Given the description of an element on the screen output the (x, y) to click on. 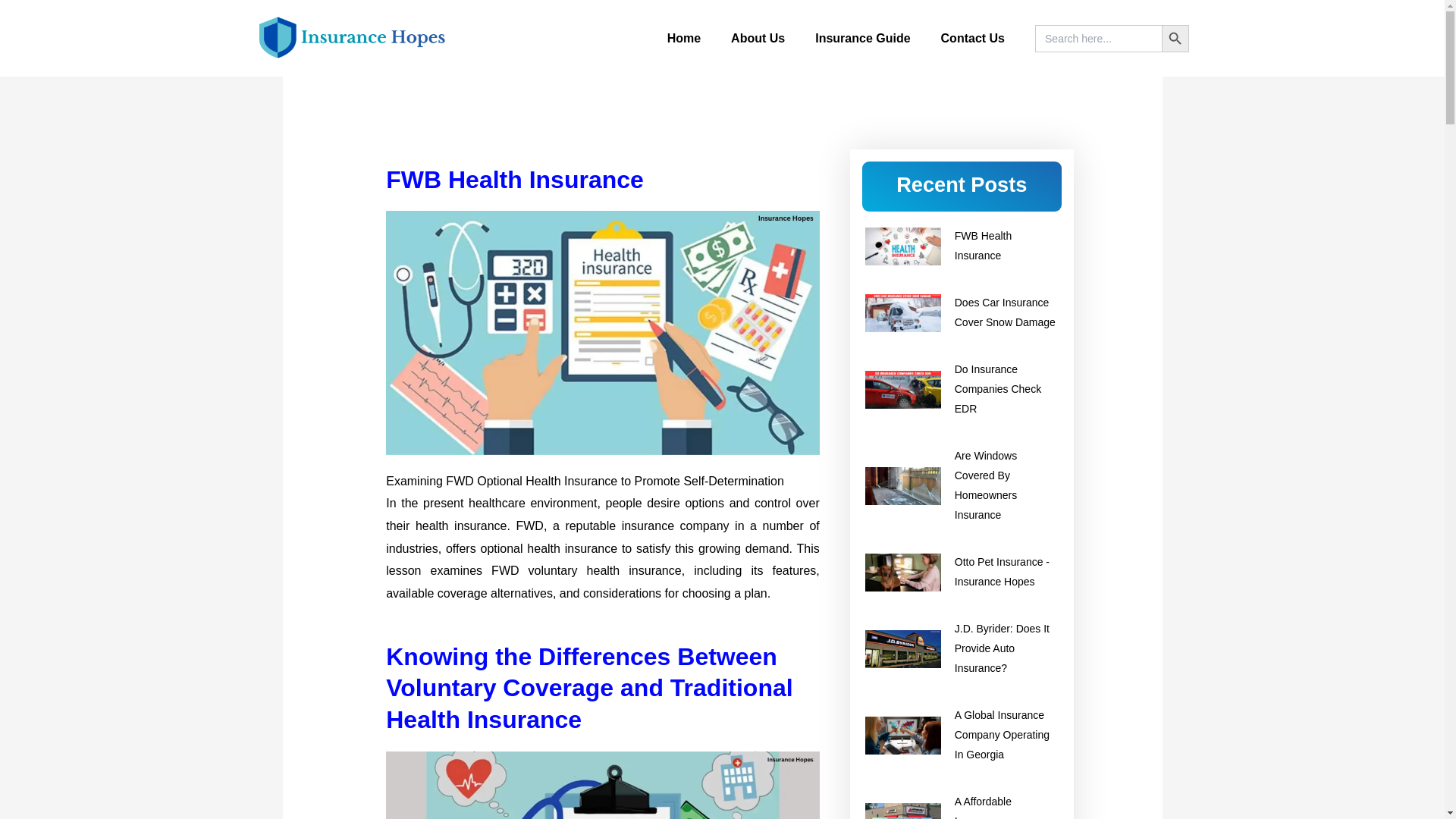
Are Windows Covered By Homeowners Insurance (961, 485)
A Affordable Insurance Leominister (961, 805)
Does Car Insurance Cover Snow Damage (961, 312)
Otto Pet Insurance - Insurance Hopes (961, 572)
FWB Health Insurance (961, 246)
Home (684, 38)
Insurance Guide (861, 38)
Contact Us (973, 38)
About Us (757, 38)
A Global Insurance Company Operating In Georgia (961, 734)
Search Button (1175, 38)
J.D. Byrider: Does It Provide Auto Insurance? (961, 648)
Do Insurance Companies Check EDR (961, 389)
